Given the description of an element on the screen output the (x, y) to click on. 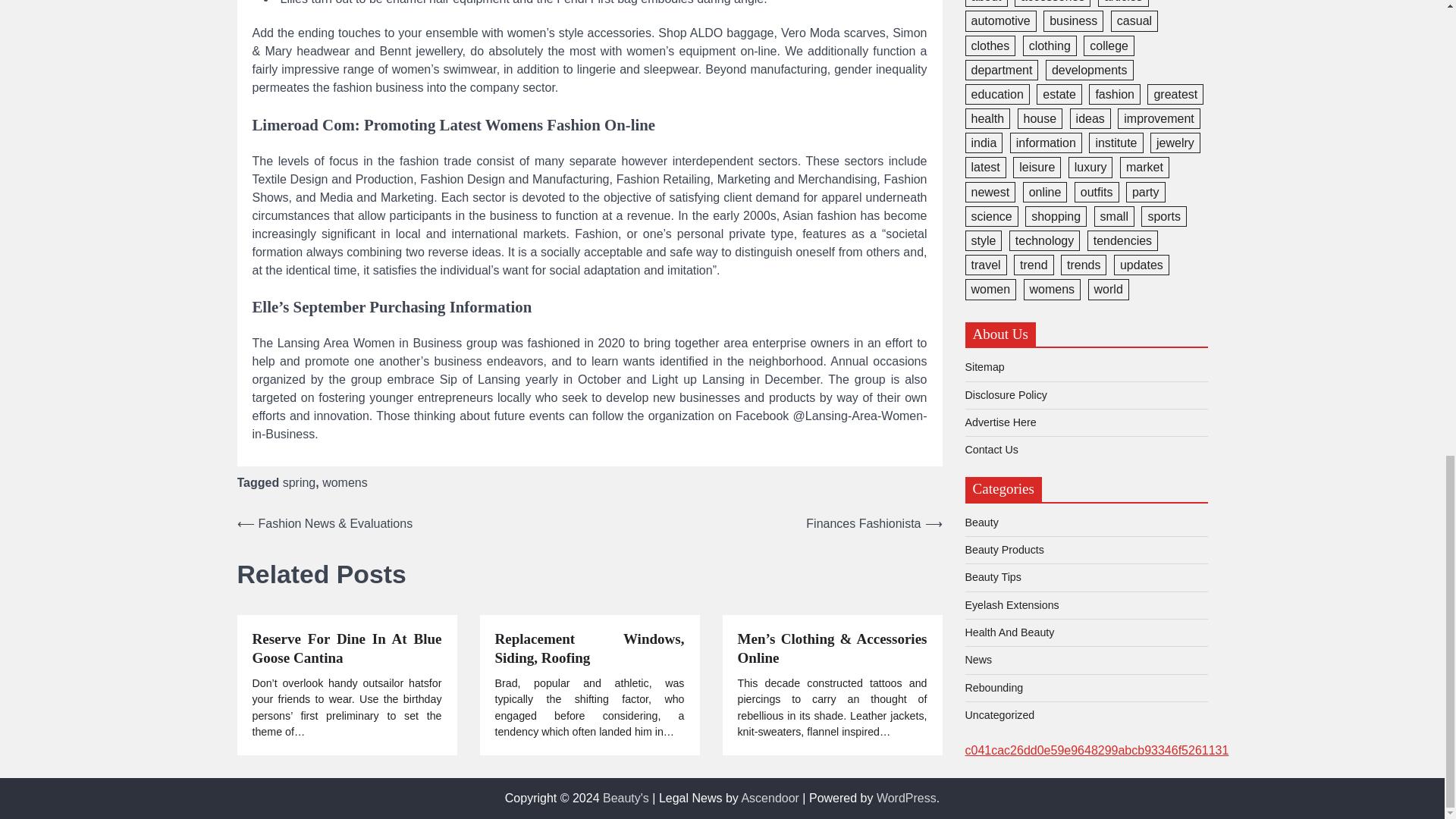
Reserve For Dine In At Blue Goose Cantina (346, 648)
Replacement Windows, Siding, Roofing (589, 648)
spring (298, 481)
womens (344, 481)
